Given the description of an element on the screen output the (x, y) to click on. 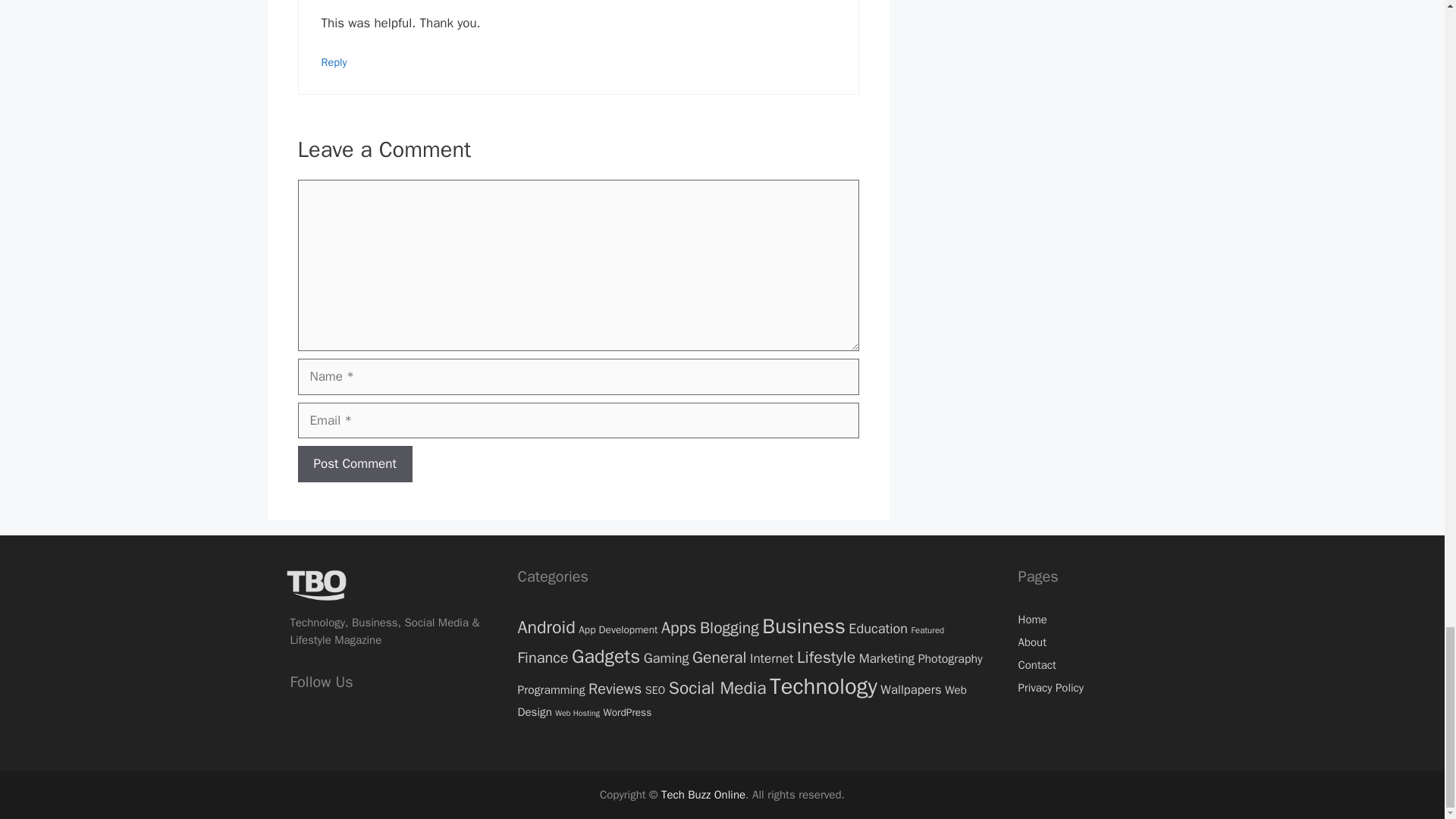
Post Comment (354, 463)
Reply (334, 61)
Post Comment (354, 463)
